Given the description of an element on the screen output the (x, y) to click on. 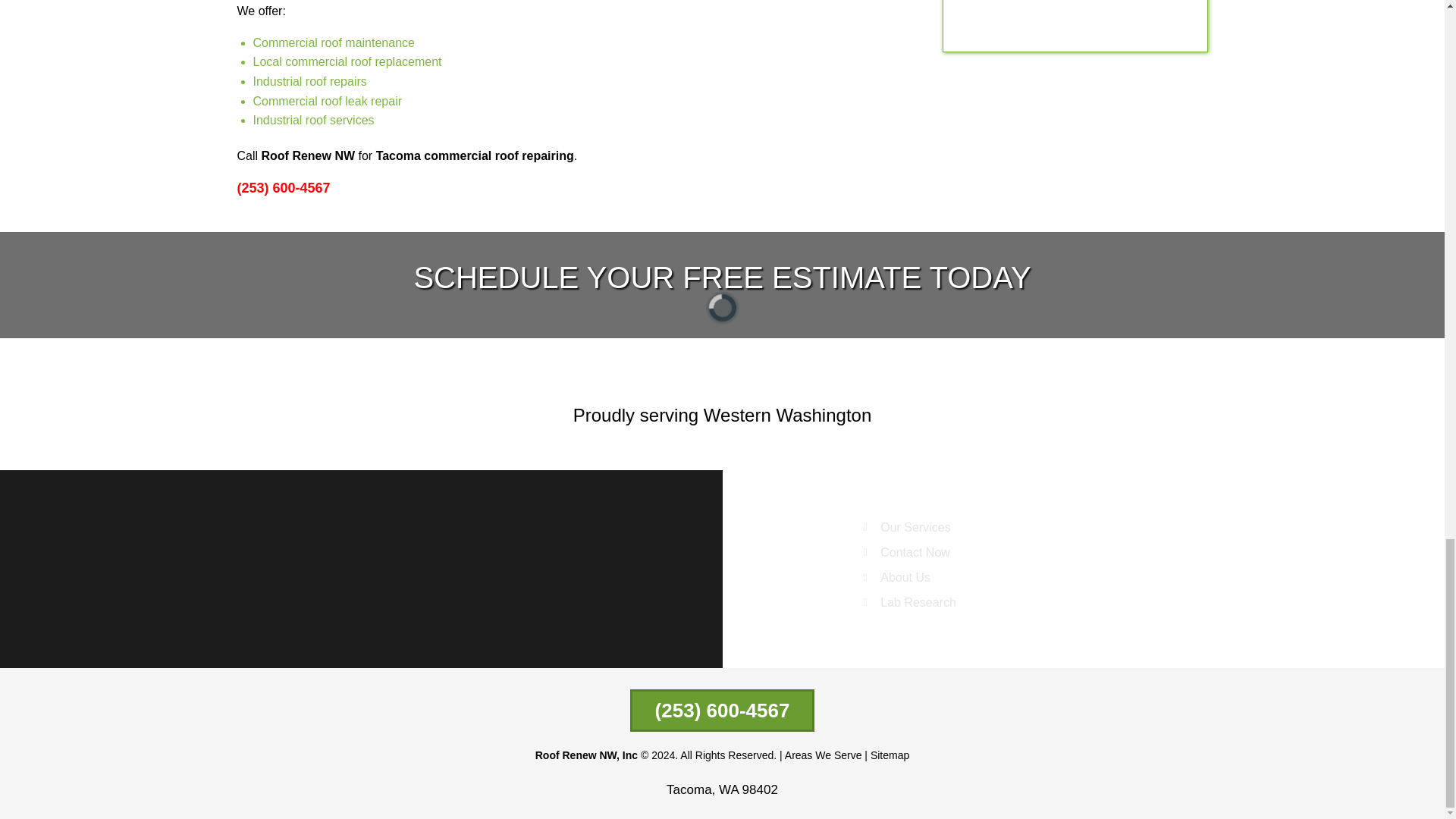
Contact Now (935, 552)
Areas We Serve (822, 755)
About Us (935, 577)
Sitemap (889, 755)
Tacoma, WA 98402 (721, 789)
Lab Research (935, 602)
